Given the description of an element on the screen output the (x, y) to click on. 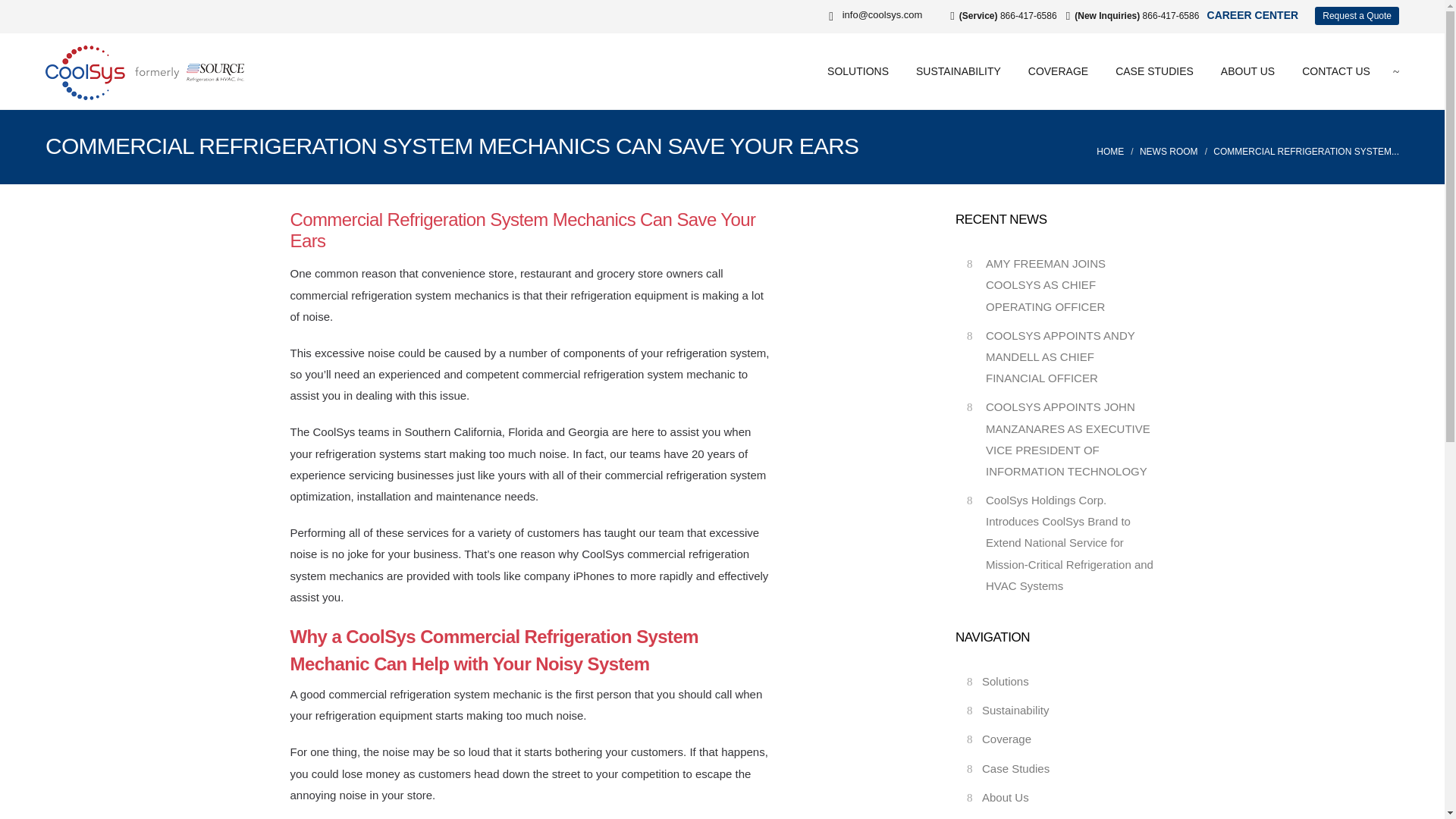
SUSTAINABILITY (958, 70)
Request a Quote (1356, 15)
CAREER CENTER (1252, 15)
CONTACT US (1335, 70)
NEWS ROOM (1169, 151)
AMY FREEMAN JOINS COOLSYS AS CHIEF OPERATING OFFICER (1045, 284)
HOME (1110, 151)
CASE STUDIES (1154, 70)
